Given the description of an element on the screen output the (x, y) to click on. 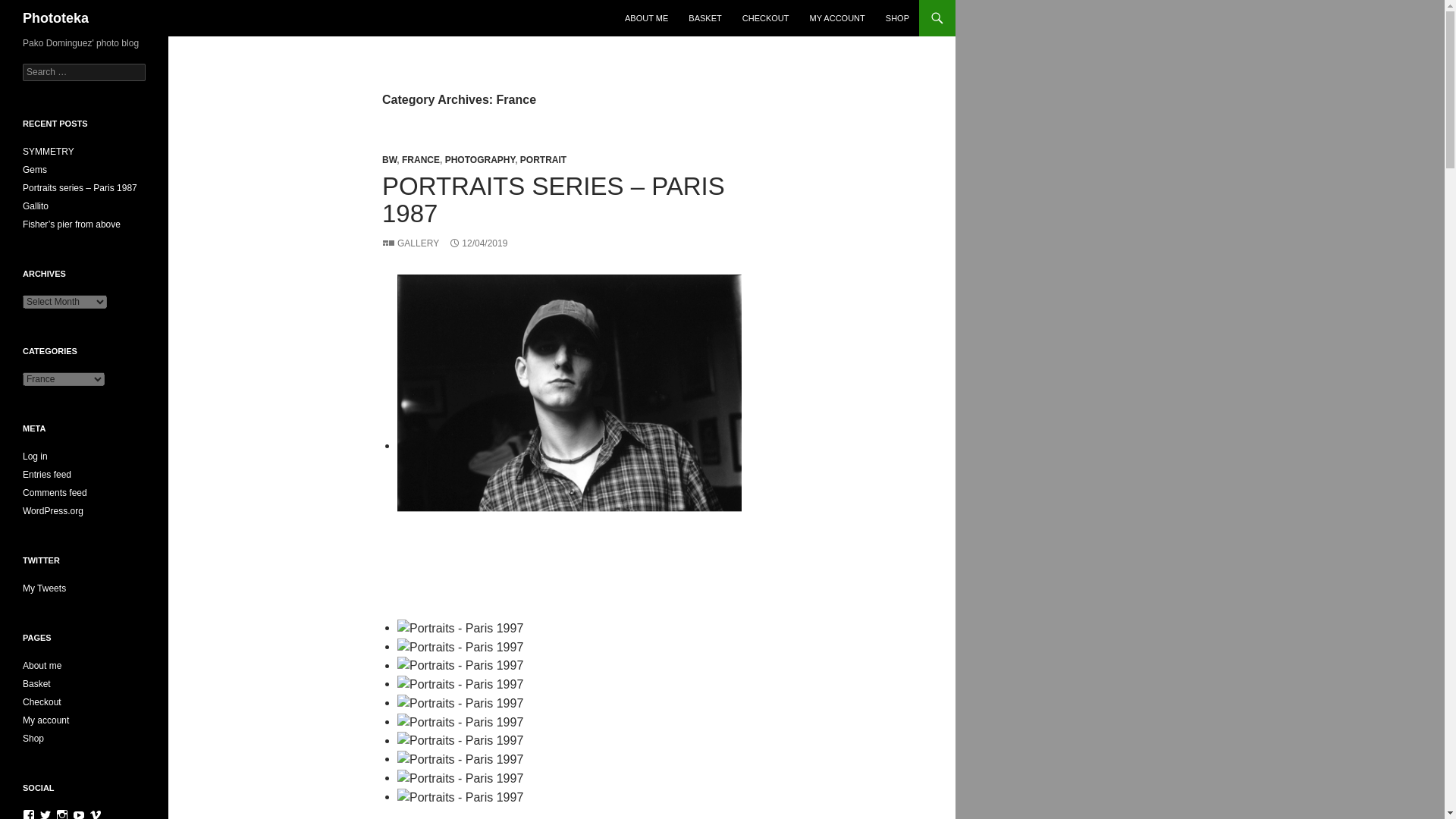
SHOP (897, 18)
ABOUT ME (646, 18)
FRANCE (420, 159)
CHECKOUT (765, 18)
PHOTOGRAPHY (480, 159)
Phototeka (55, 18)
GALLERY (410, 243)
MY ACCOUNT (837, 18)
BW (388, 159)
BASKET (704, 18)
PORTRAIT (542, 159)
